Given the description of an element on the screen output the (x, y) to click on. 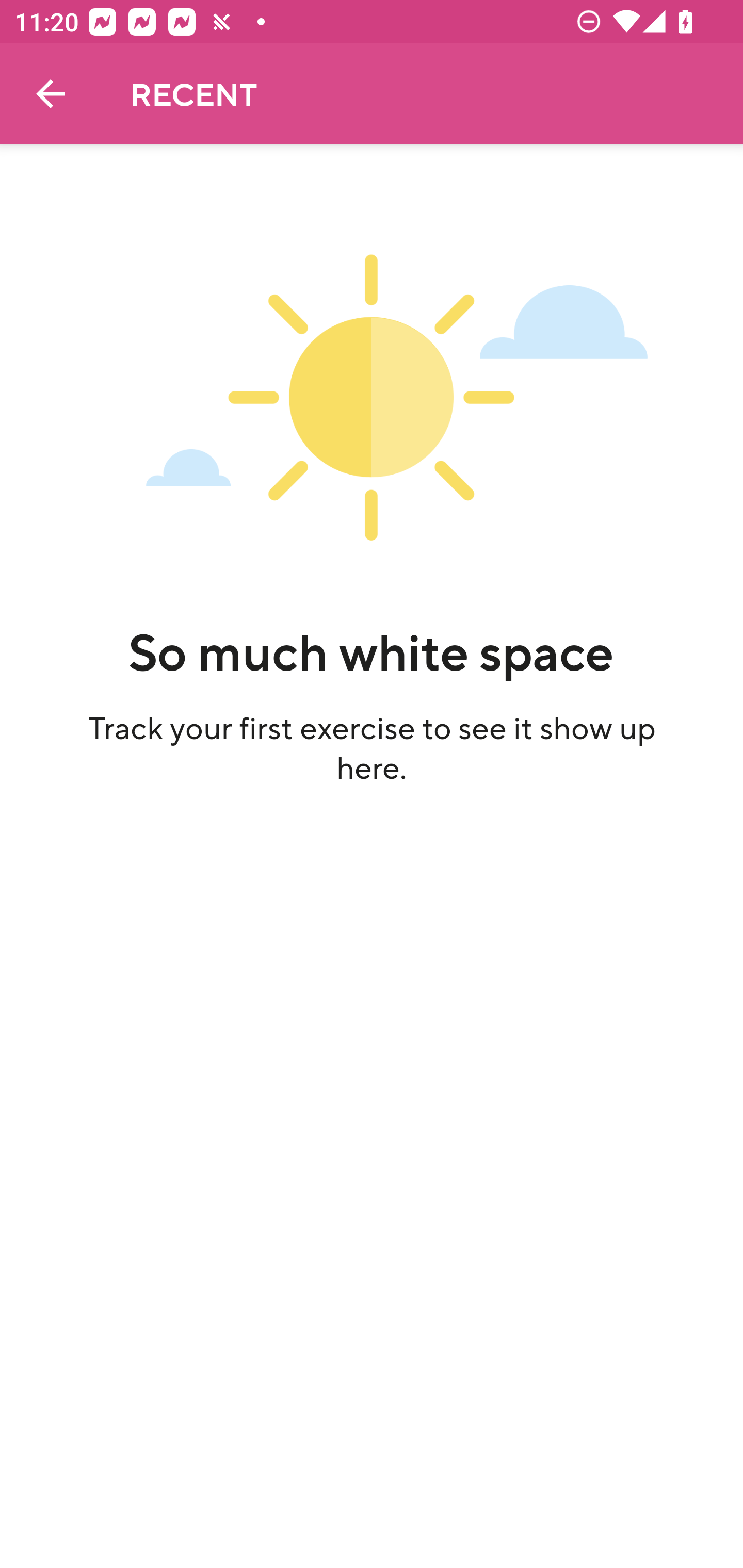
Navigate up (50, 93)
